Given the description of an element on the screen output the (x, y) to click on. 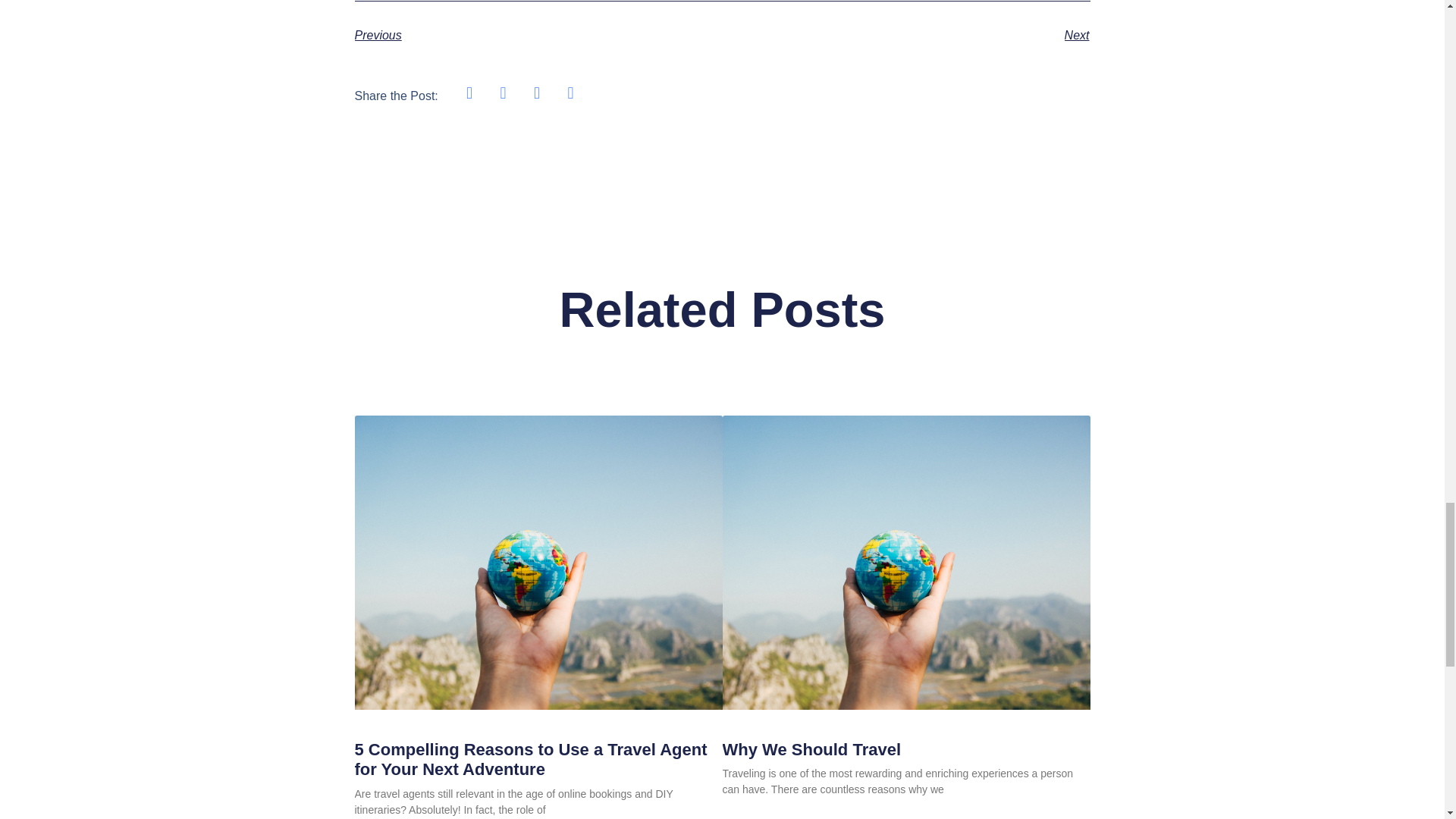
Next (905, 35)
Previous (538, 35)
Why We Should Travel (811, 749)
